Given the description of an element on the screen output the (x, y) to click on. 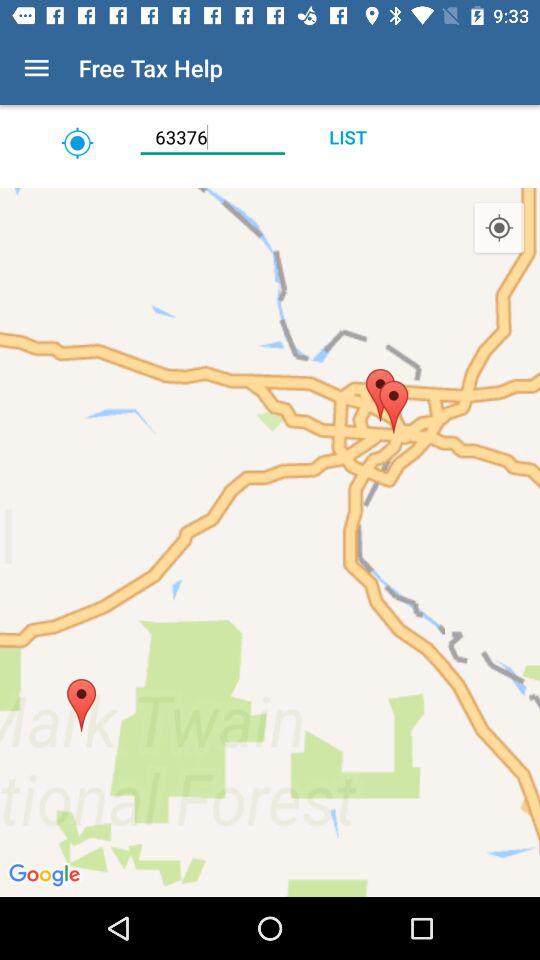
select item next to the 63376 item (77, 142)
